Given the description of an element on the screen output the (x, y) to click on. 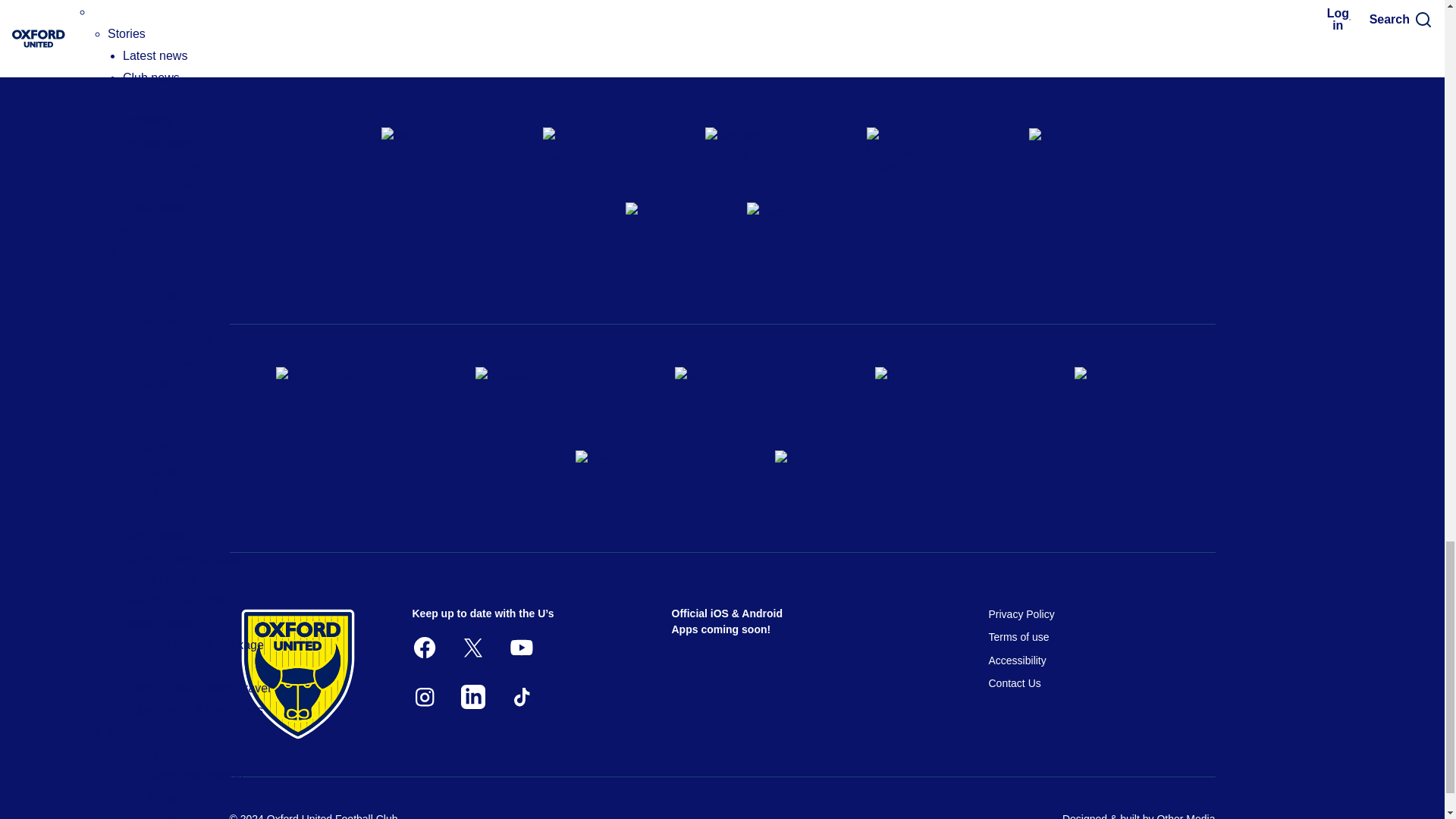
Macron (781, 238)
Bangkok Glass (322, 393)
Caprinos (922, 393)
Planet IT (622, 476)
Chaokoh (522, 393)
IFX Payments (1121, 393)
Polythene UK (721, 393)
Rocktree (821, 476)
Baxi (660, 238)
